Given the description of an element on the screen output the (x, y) to click on. 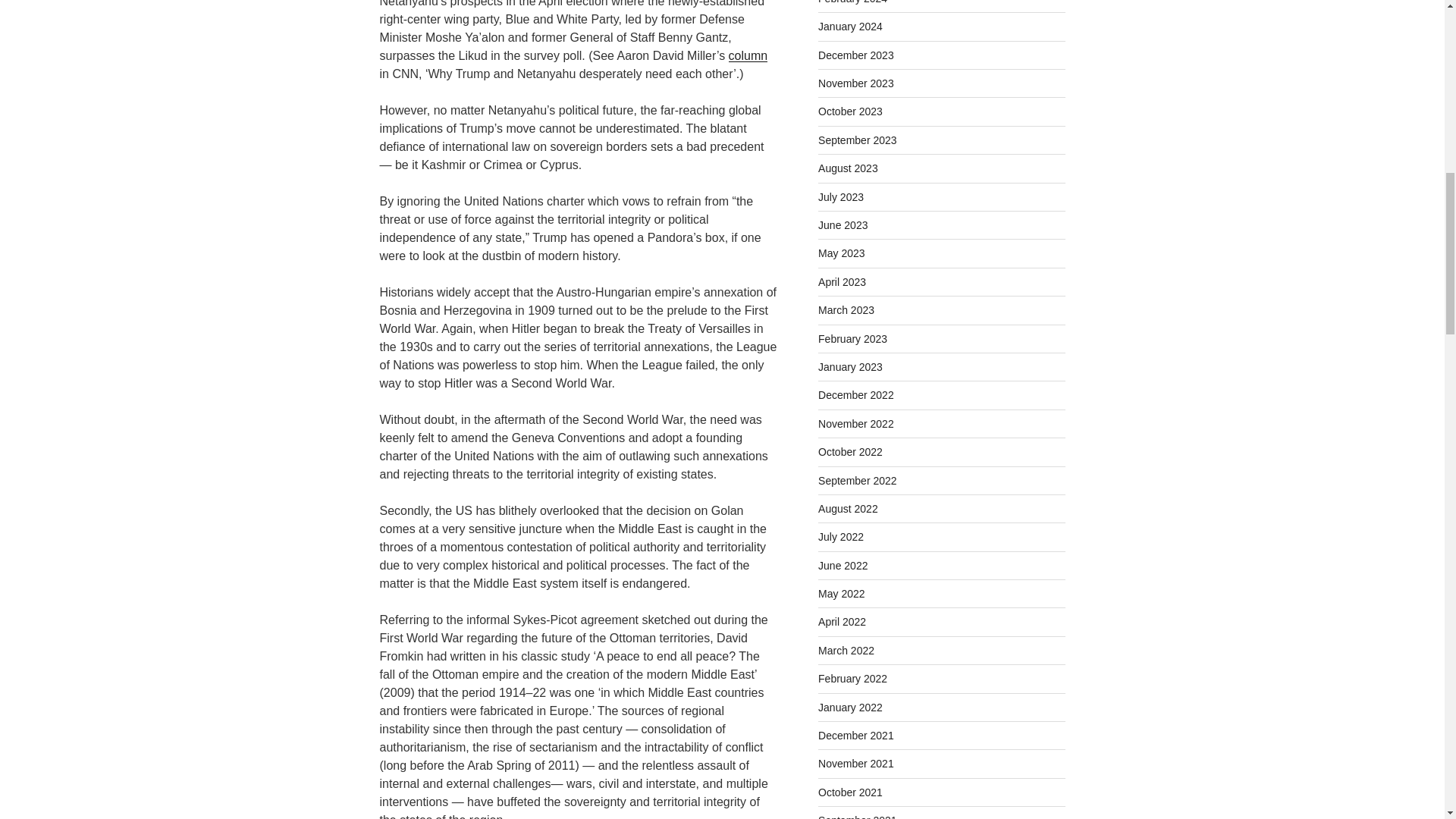
February 2024 (852, 2)
August 2023 (847, 168)
December 2023 (855, 55)
October 2023 (850, 111)
January 2024 (850, 26)
column (748, 55)
November 2023 (855, 82)
September 2023 (857, 140)
